Given the description of an element on the screen output the (x, y) to click on. 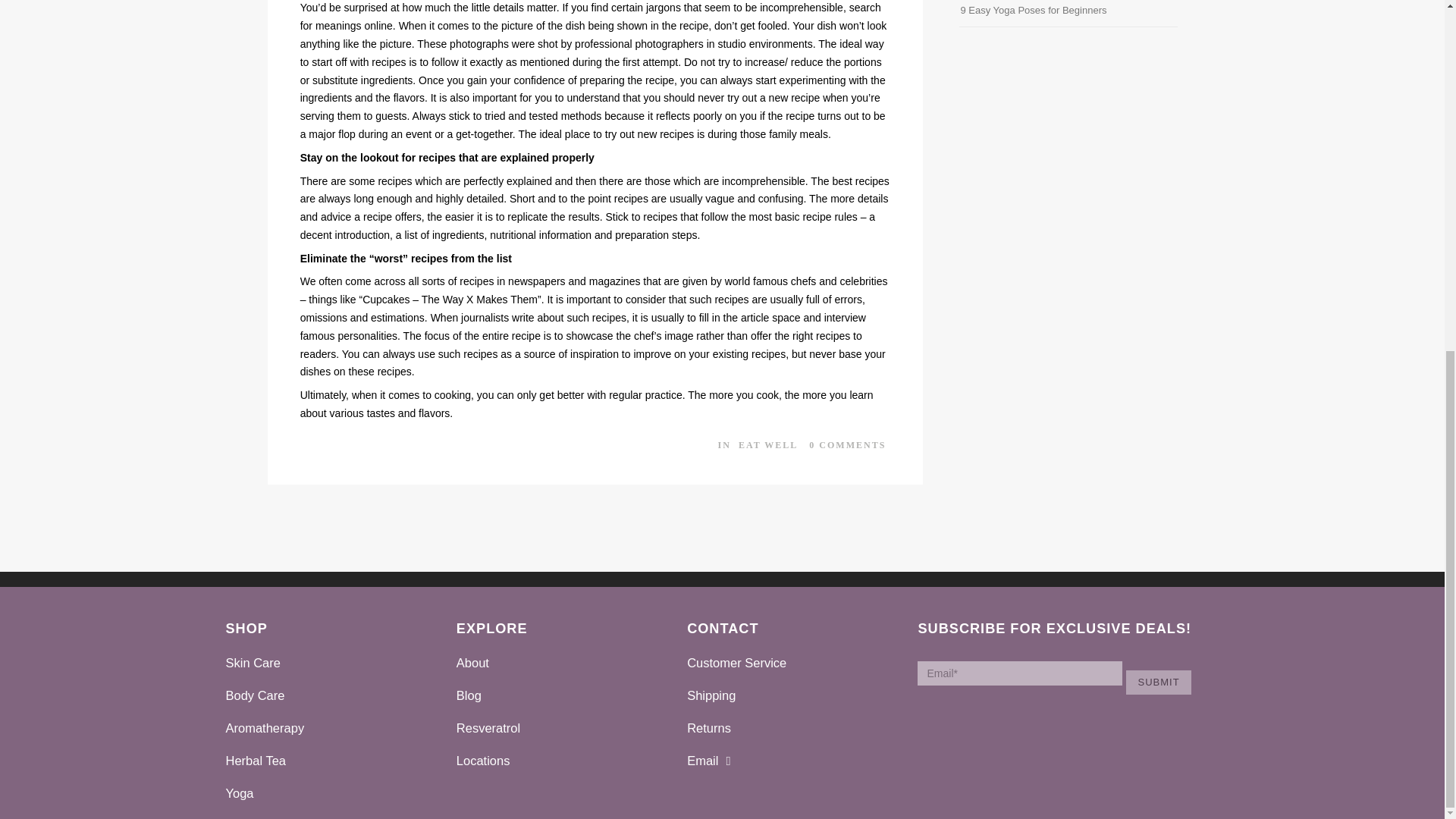
Skin Care (253, 662)
Blog (469, 694)
About (473, 662)
Aromatherapy (264, 727)
Body Care (255, 694)
EAT WELL (767, 444)
Yoga (239, 793)
0 COMMENTS (847, 444)
9 Easy Yoga Poses for Beginners (1032, 9)
Herbal Tea (255, 760)
